Given the description of an element on the screen output the (x, y) to click on. 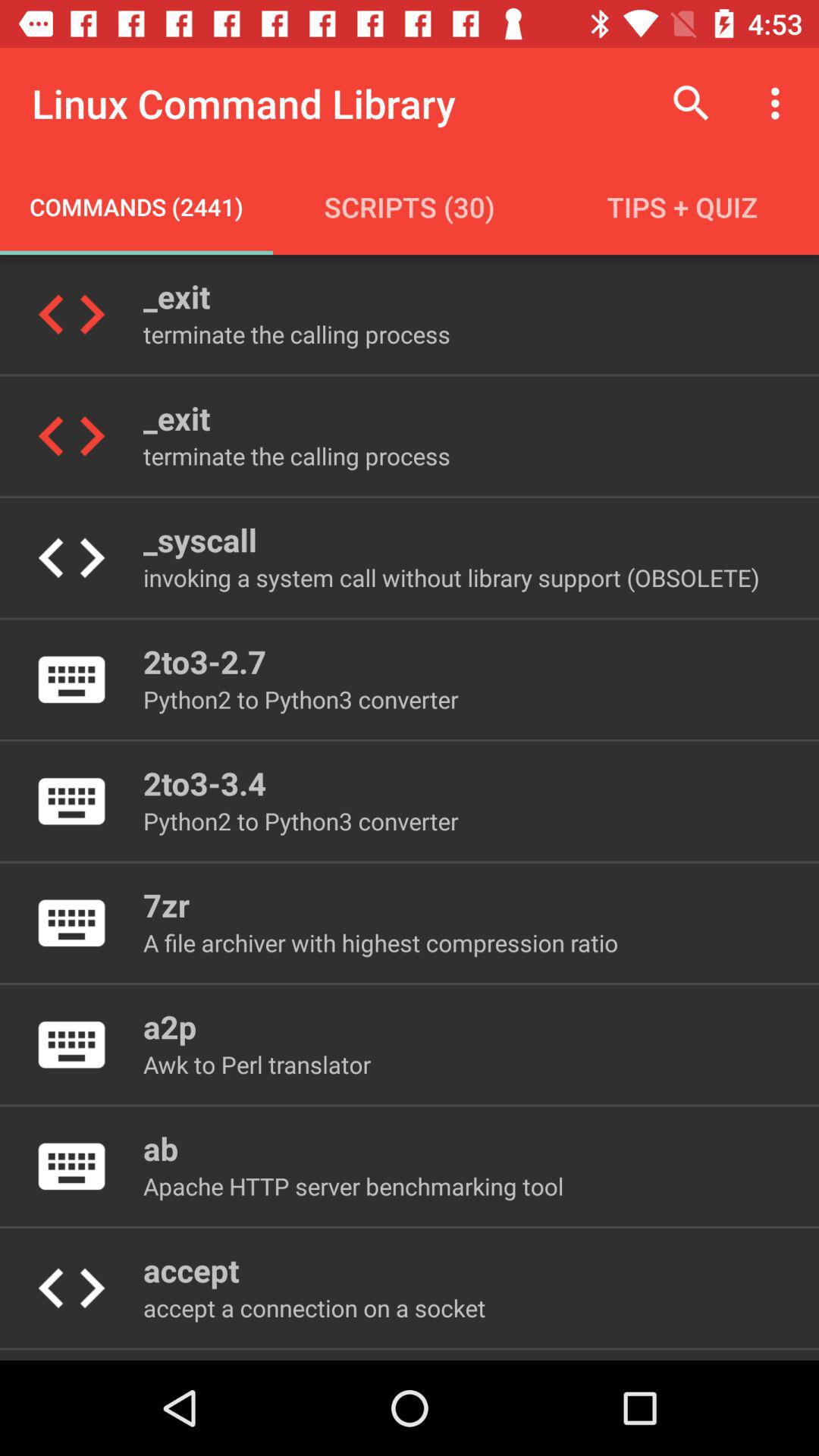
turn off the icon below the a file archiver item (169, 1026)
